Given the description of an element on the screen output the (x, y) to click on. 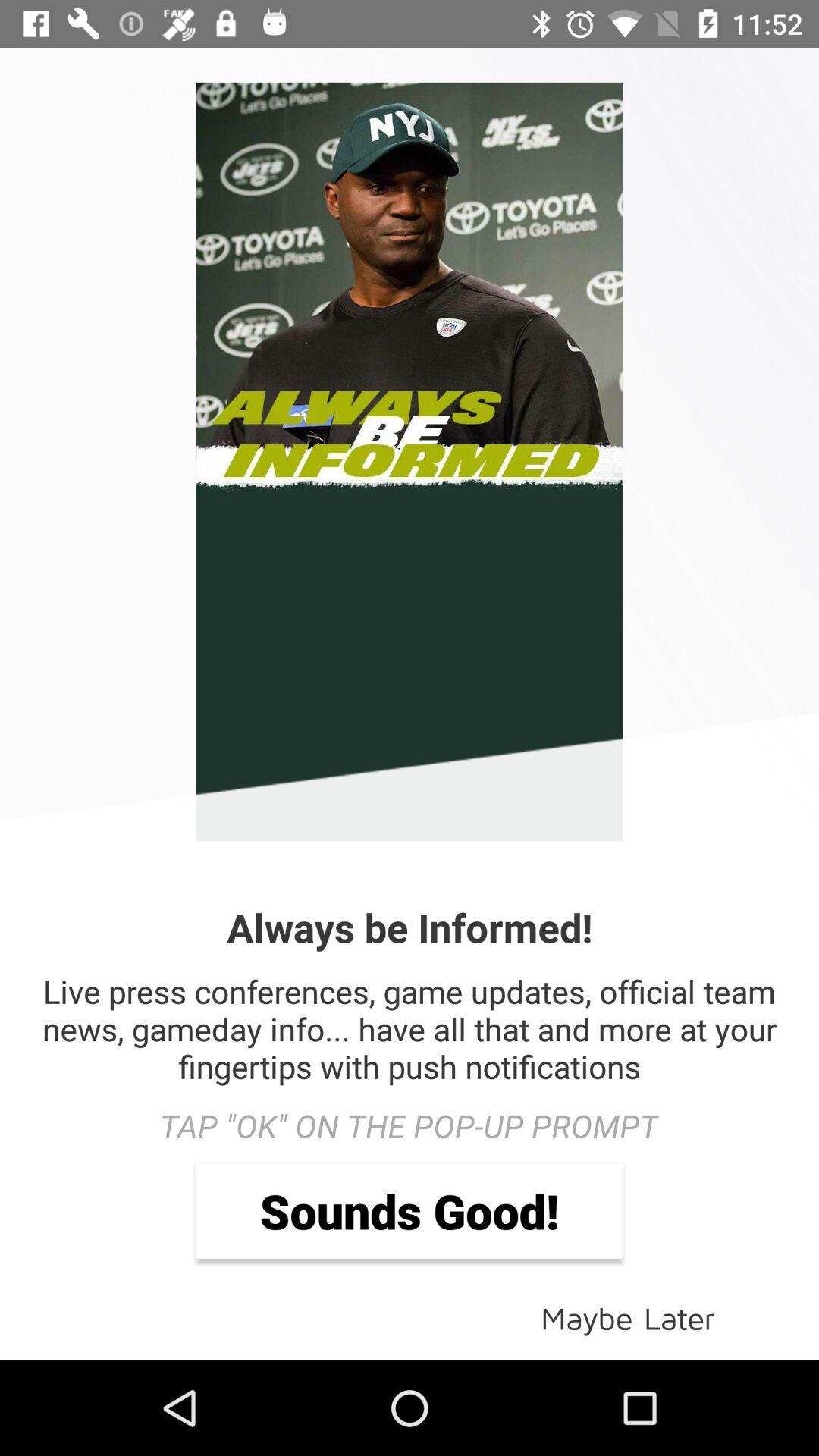
tap item below the tap ok on icon (409, 1210)
